Given the description of an element on the screen output the (x, y) to click on. 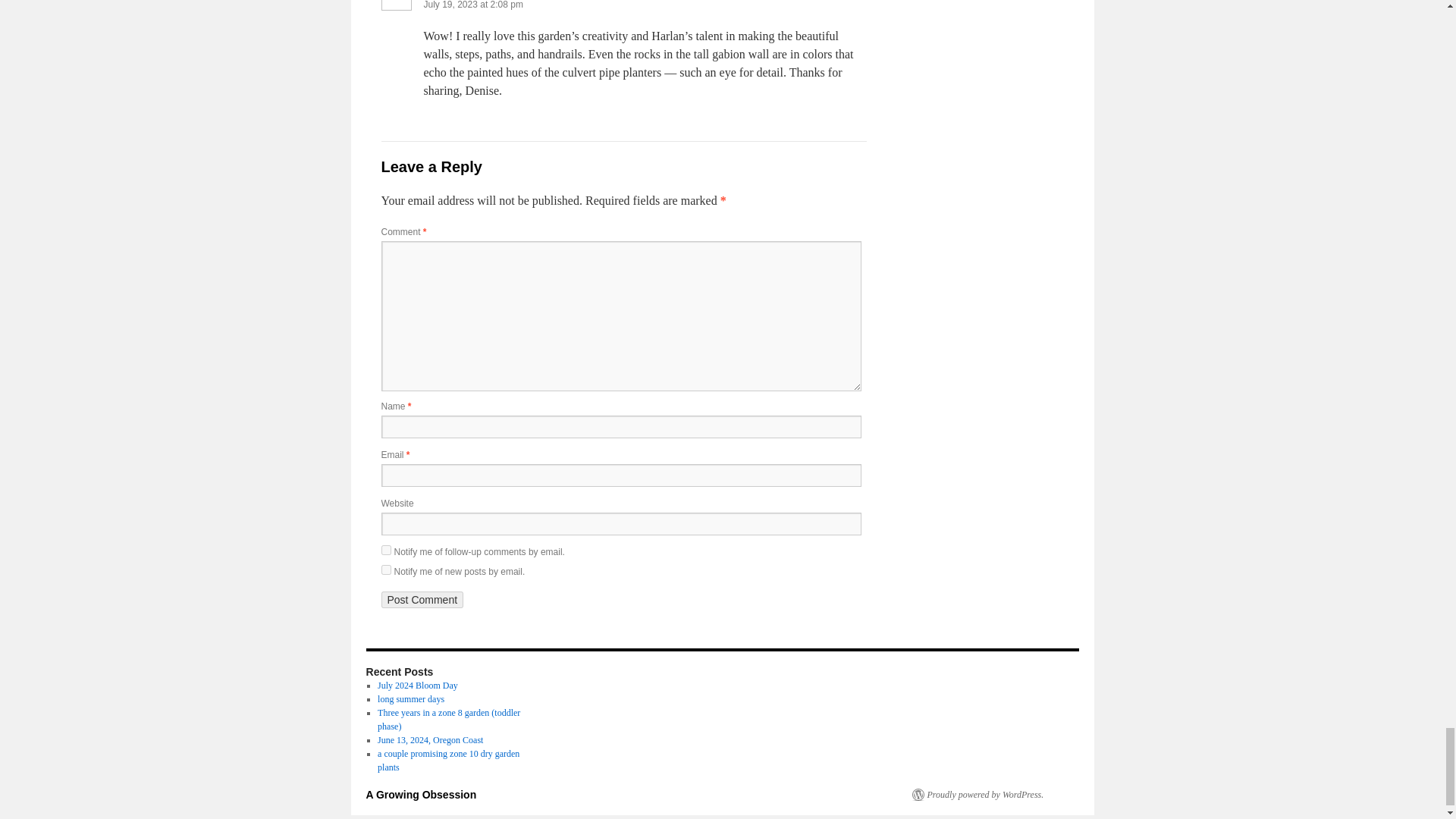
Post Comment (421, 599)
subscribe (385, 569)
subscribe (385, 550)
Semantic Personal Publishing Platform (977, 794)
A Growing Obsession (420, 794)
